Given the description of an element on the screen output the (x, y) to click on. 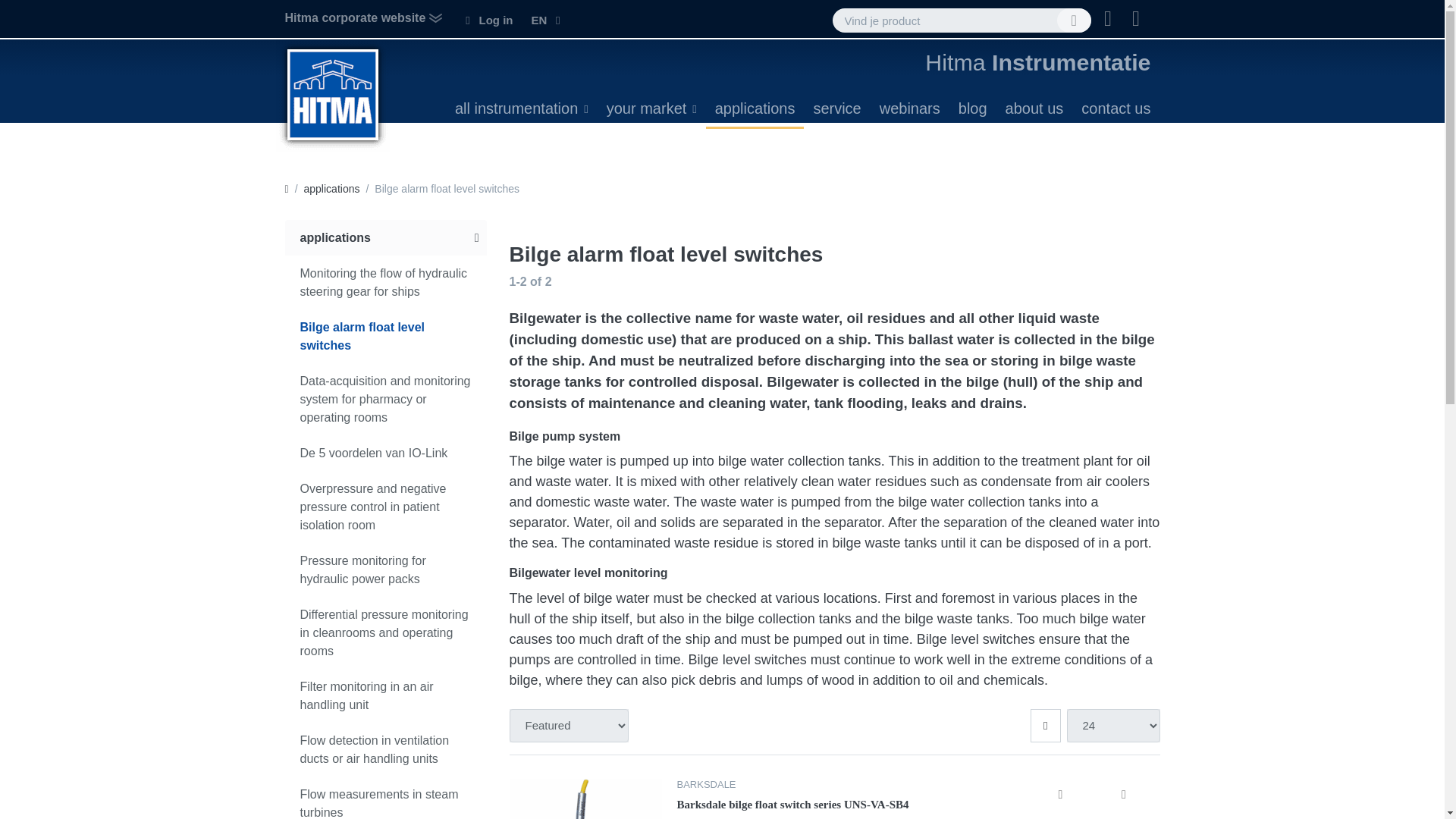
Description (1123, 793)
applications (331, 188)
Hitma Instrumentatie nl (333, 94)
webinars (909, 107)
Search (1073, 20)
Log in (489, 20)
applications (755, 107)
Sort by Featured (568, 725)
Compare (1059, 793)
